Given the description of an element on the screen output the (x, y) to click on. 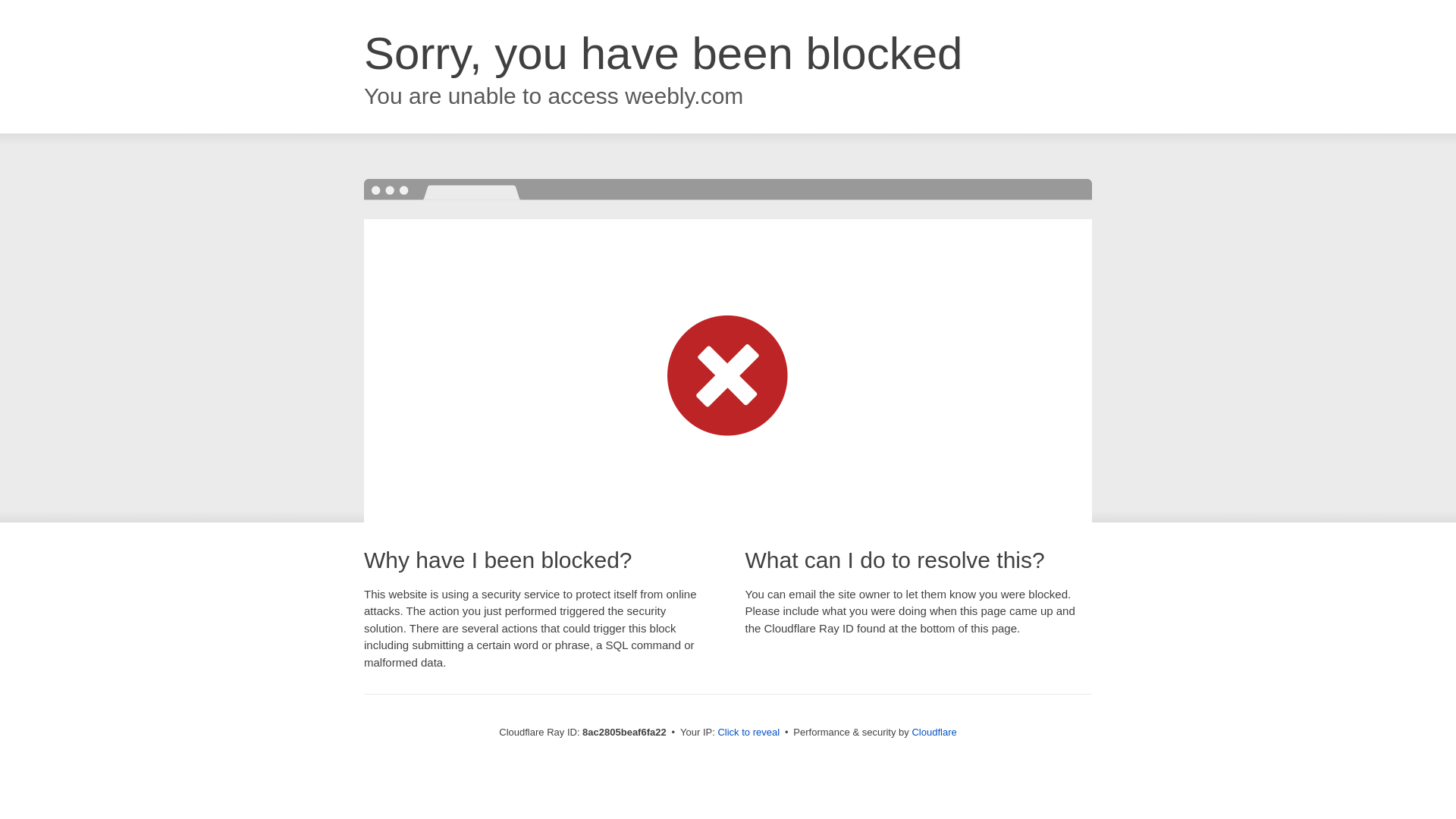
Click to reveal (747, 732)
Cloudflare (933, 731)
